Given the description of an element on the screen output the (x, y) to click on. 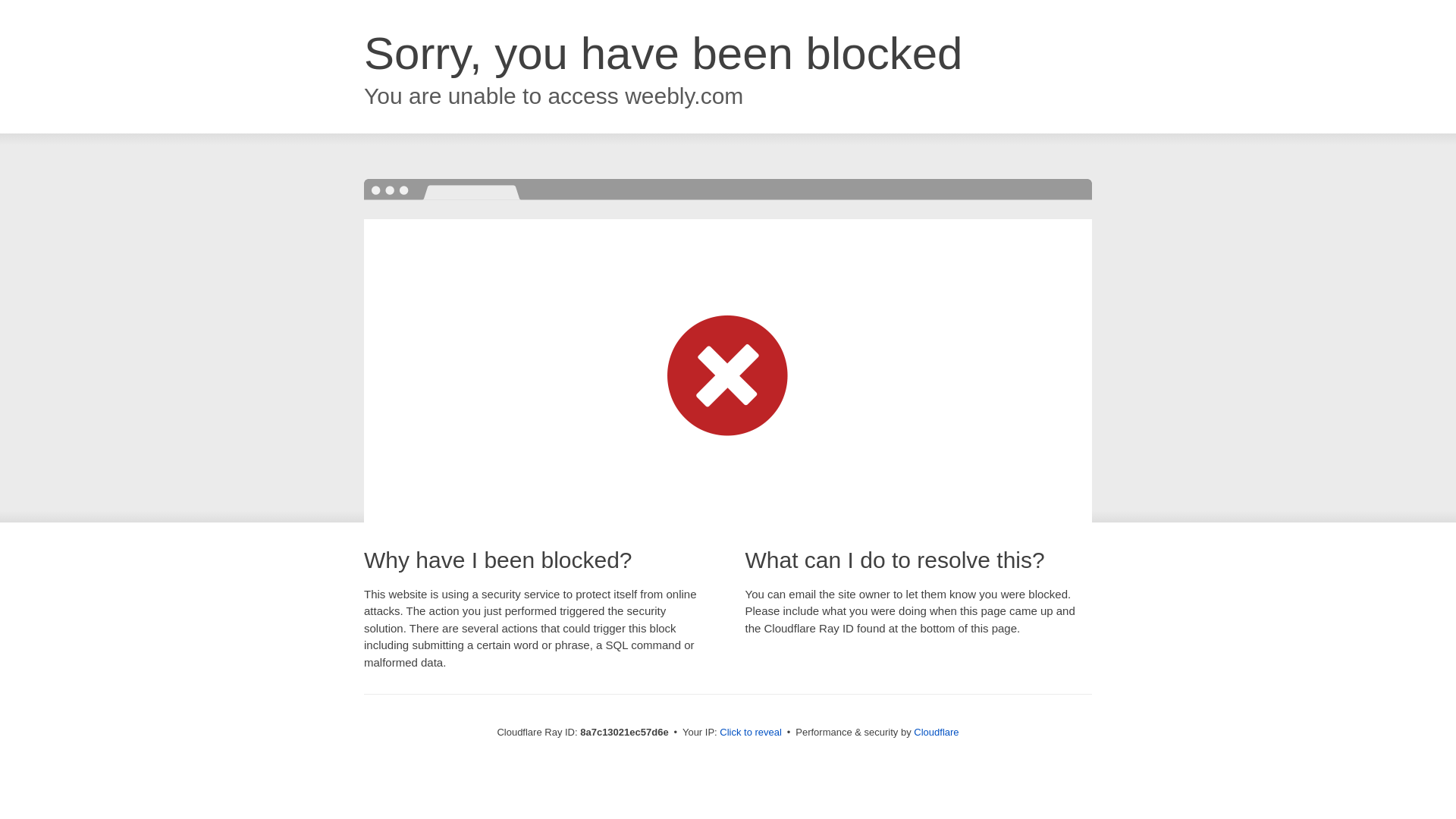
Cloudflare (936, 731)
Click to reveal (750, 732)
